Given the description of an element on the screen output the (x, y) to click on. 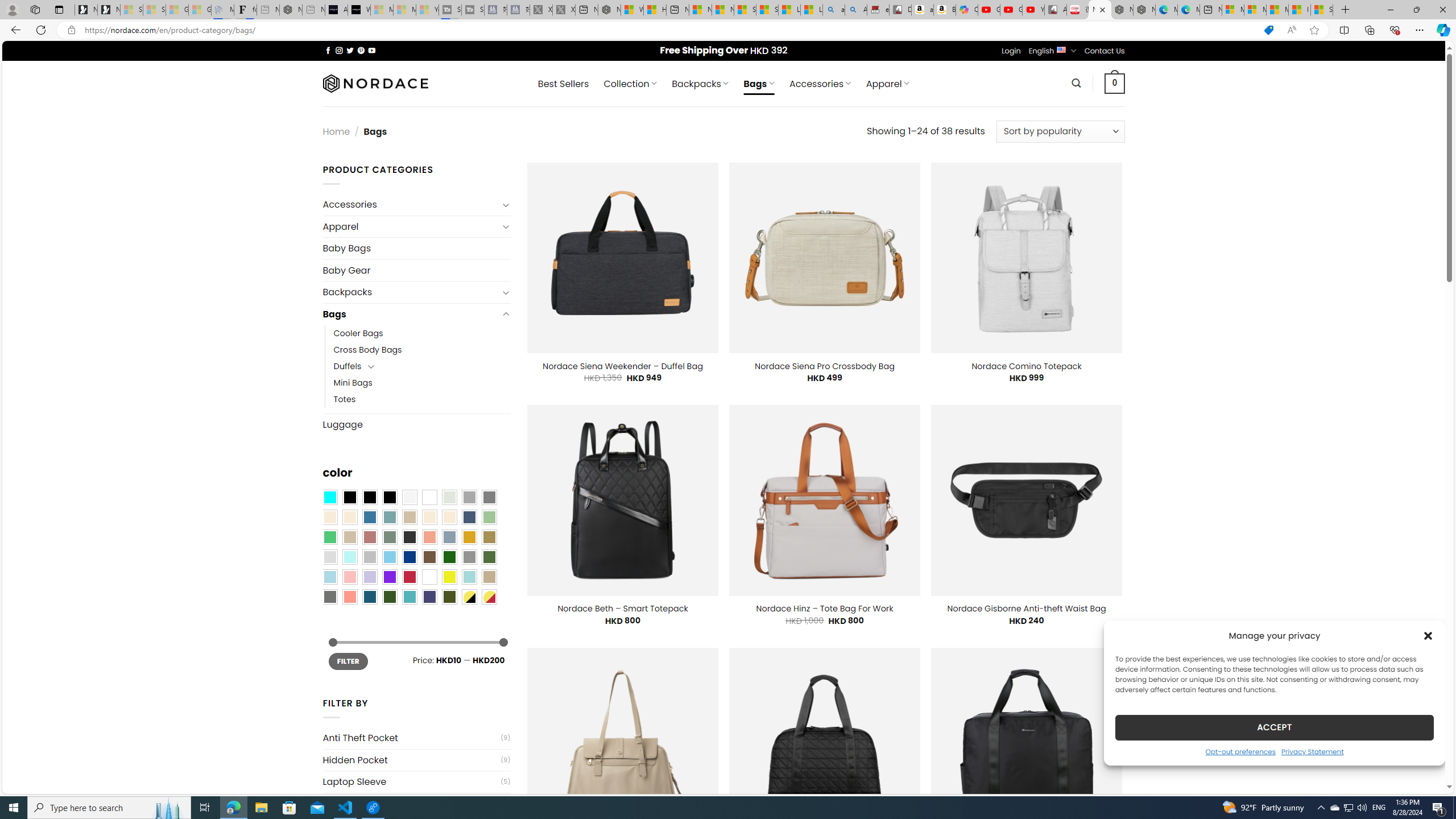
Follow on Facebook (327, 49)
